Given the description of an element on the screen output the (x, y) to click on. 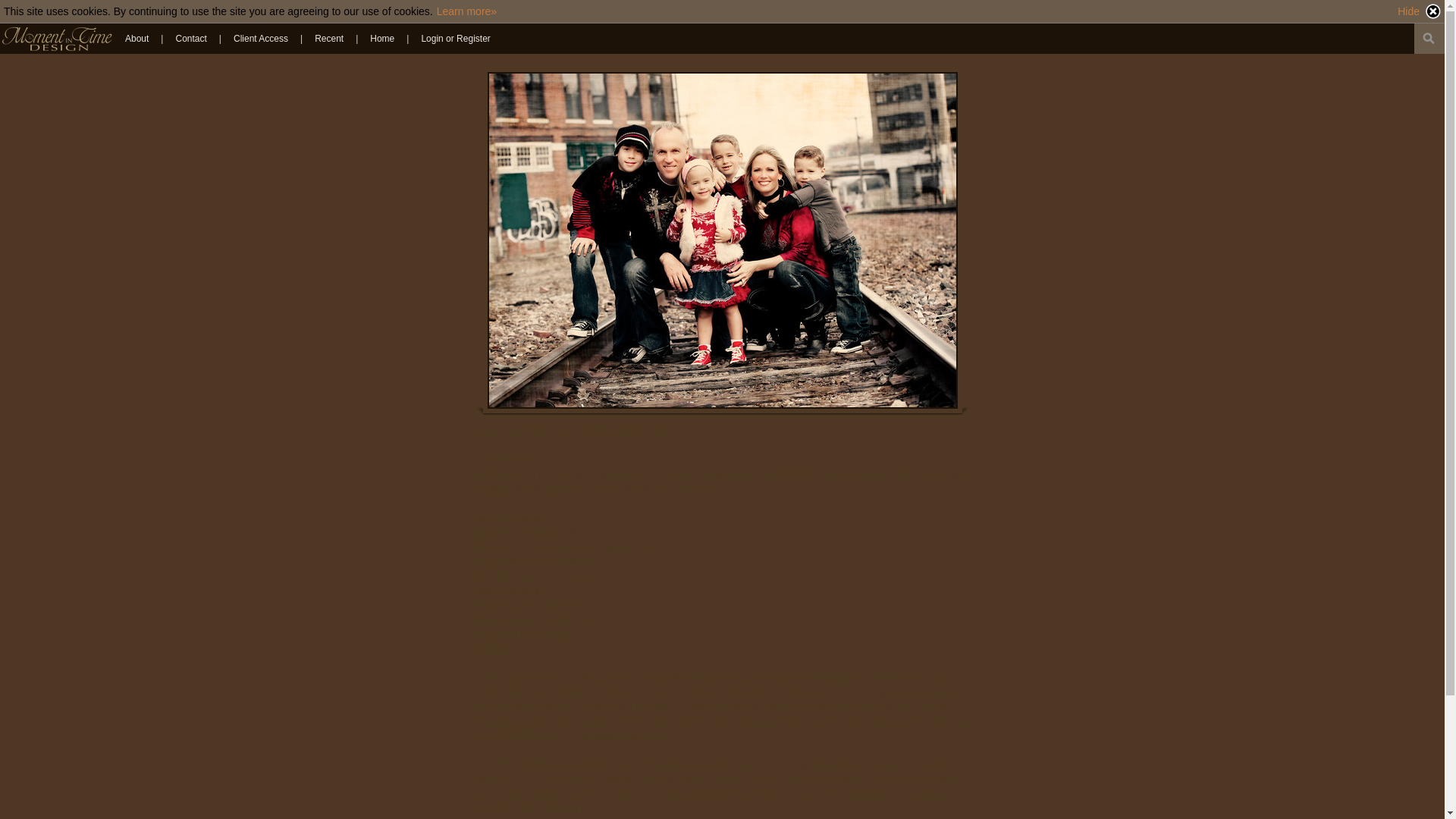
Moment in Time Design (58, 38)
Client Access (260, 38)
Recent (328, 38)
About (136, 38)
Login or Register (455, 38)
Hide (1419, 11)
Contact (190, 38)
Home (382, 38)
